Given the description of an element on the screen output the (x, y) to click on. 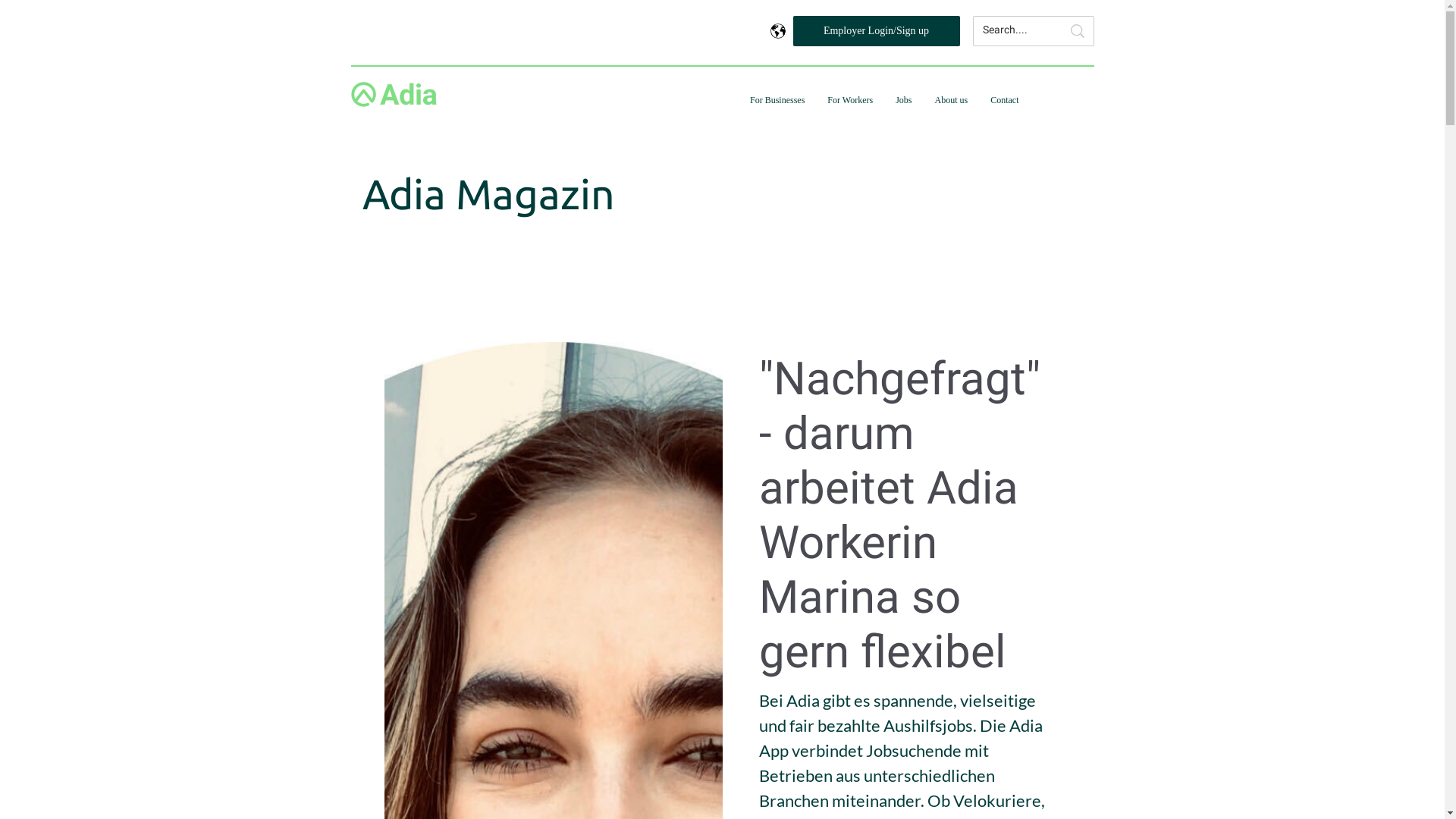
For Businesses Element type: text (776, 99)
adia.png Element type: hover (393, 93)
For Workers Element type: text (849, 99)
Jobs Element type: text (903, 99)
Contact Element type: text (1004, 99)
About us Element type: text (951, 99)
Employer Login/Sign up Element type: text (876, 30)
